Given the description of an element on the screen output the (x, y) to click on. 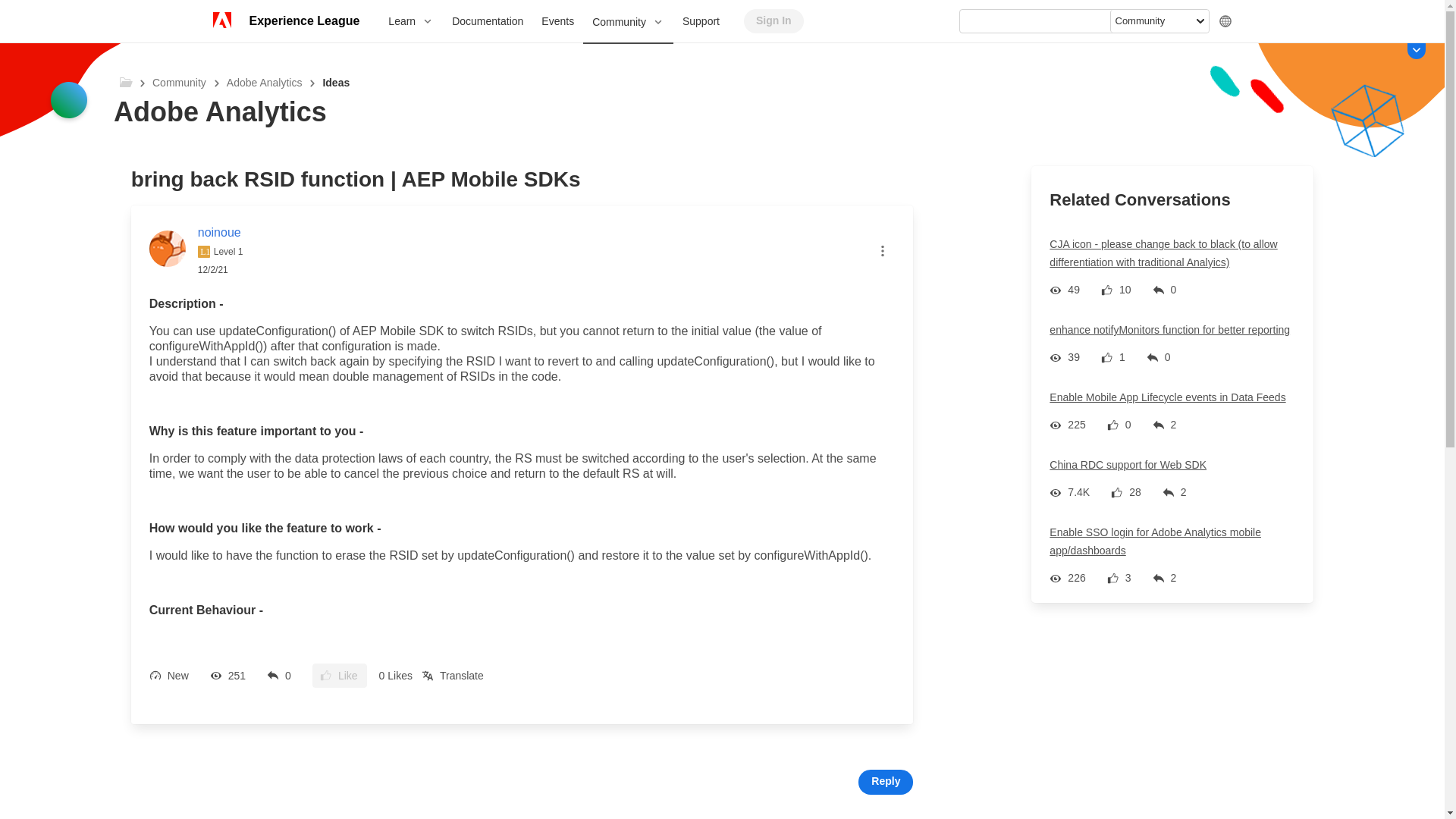
Documentation (487, 21)
Community (627, 22)
Learn (410, 21)
Experience League (304, 21)
Experience League (304, 21)
Learn (410, 21)
Events (557, 21)
